Given the description of an element on the screen output the (x, y) to click on. 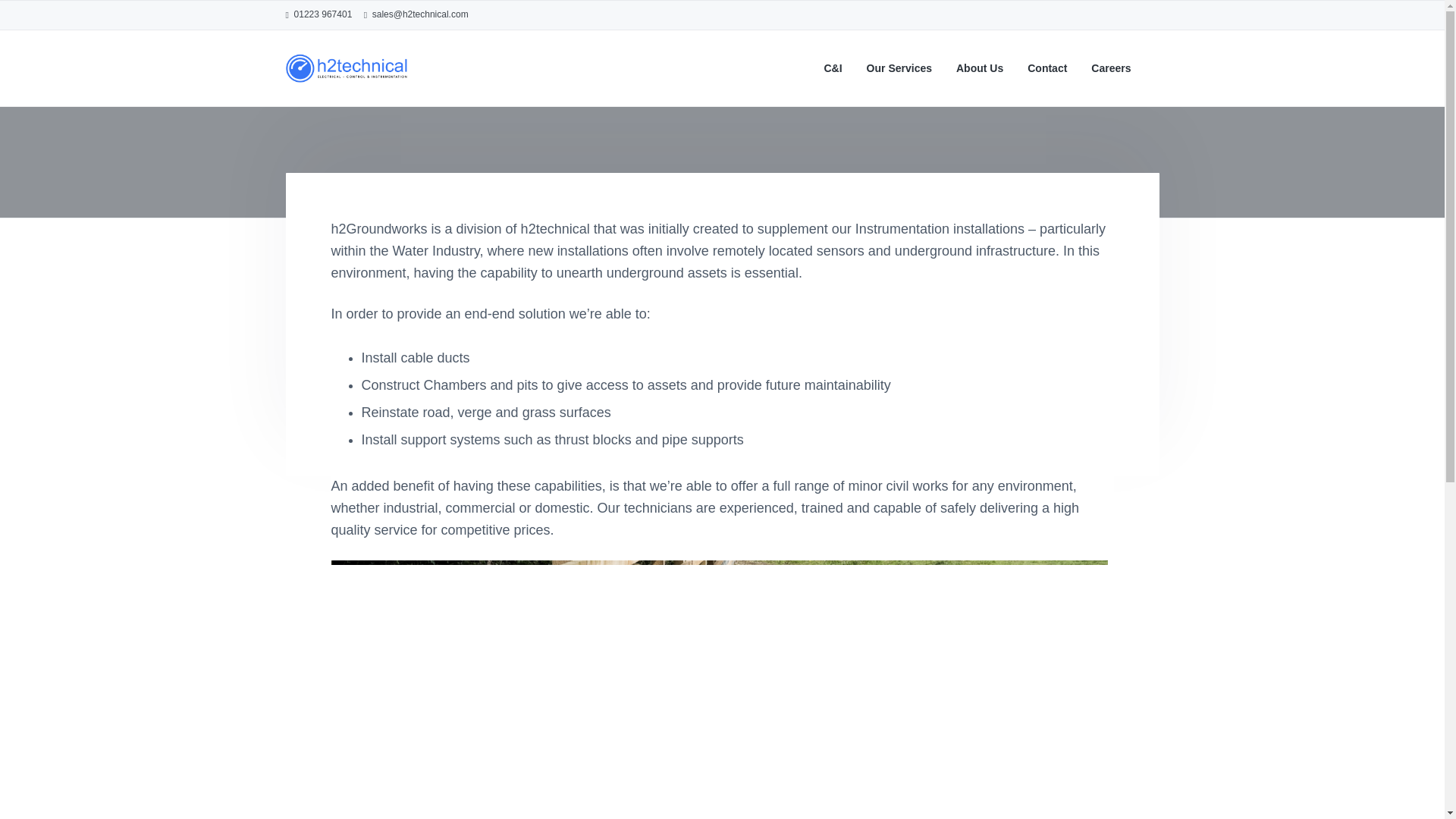
Contact (1047, 67)
Careers (1110, 67)
Search (60, 18)
Our Services (898, 67)
About Us (979, 67)
